Given the description of an element on the screen output the (x, y) to click on. 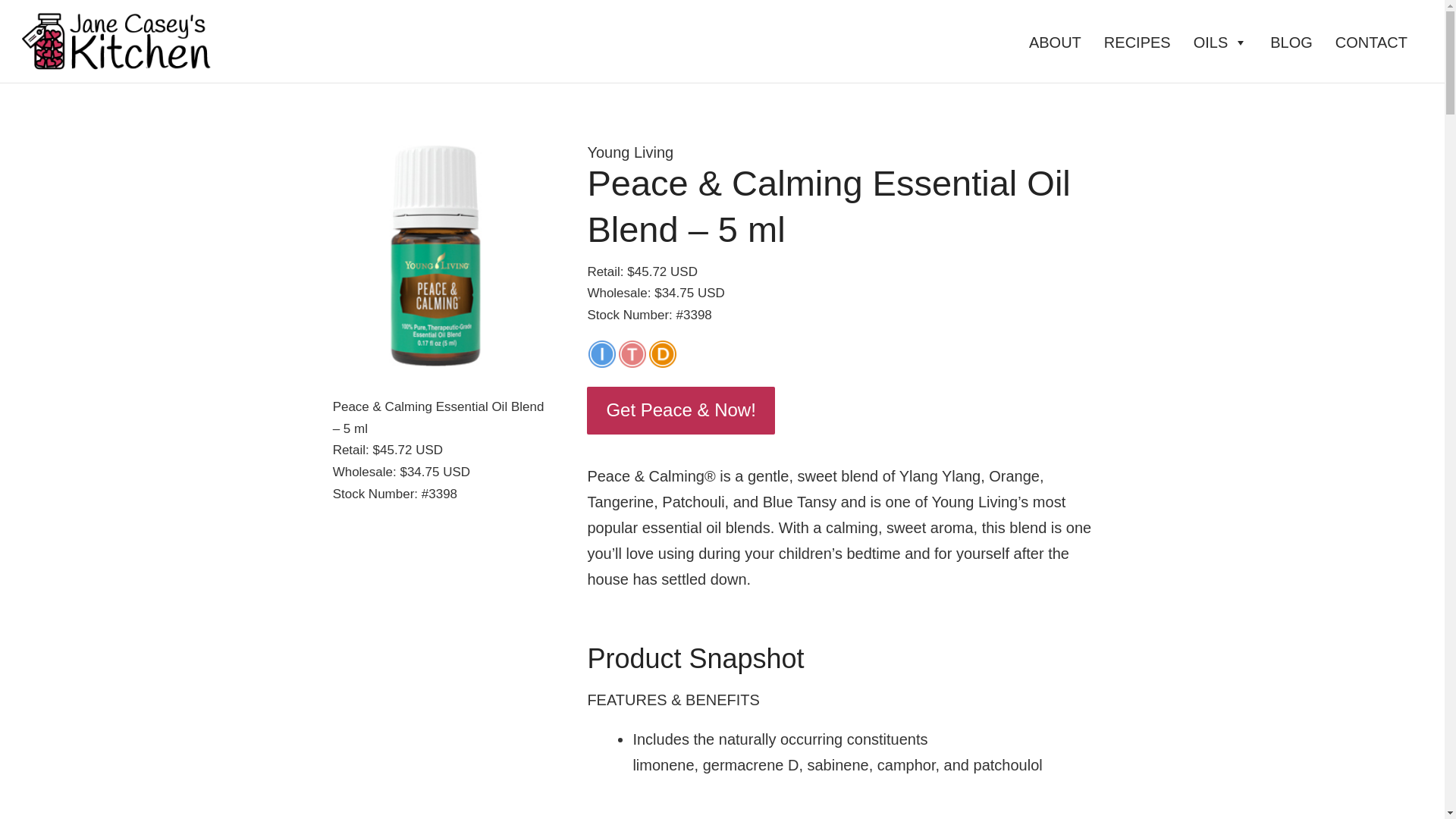
BLOG (1294, 42)
RECIPES (1141, 42)
OILS (1224, 42)
CONTACT (1374, 42)
ABOUT (1059, 42)
